Given the description of an element on the screen output the (x, y) to click on. 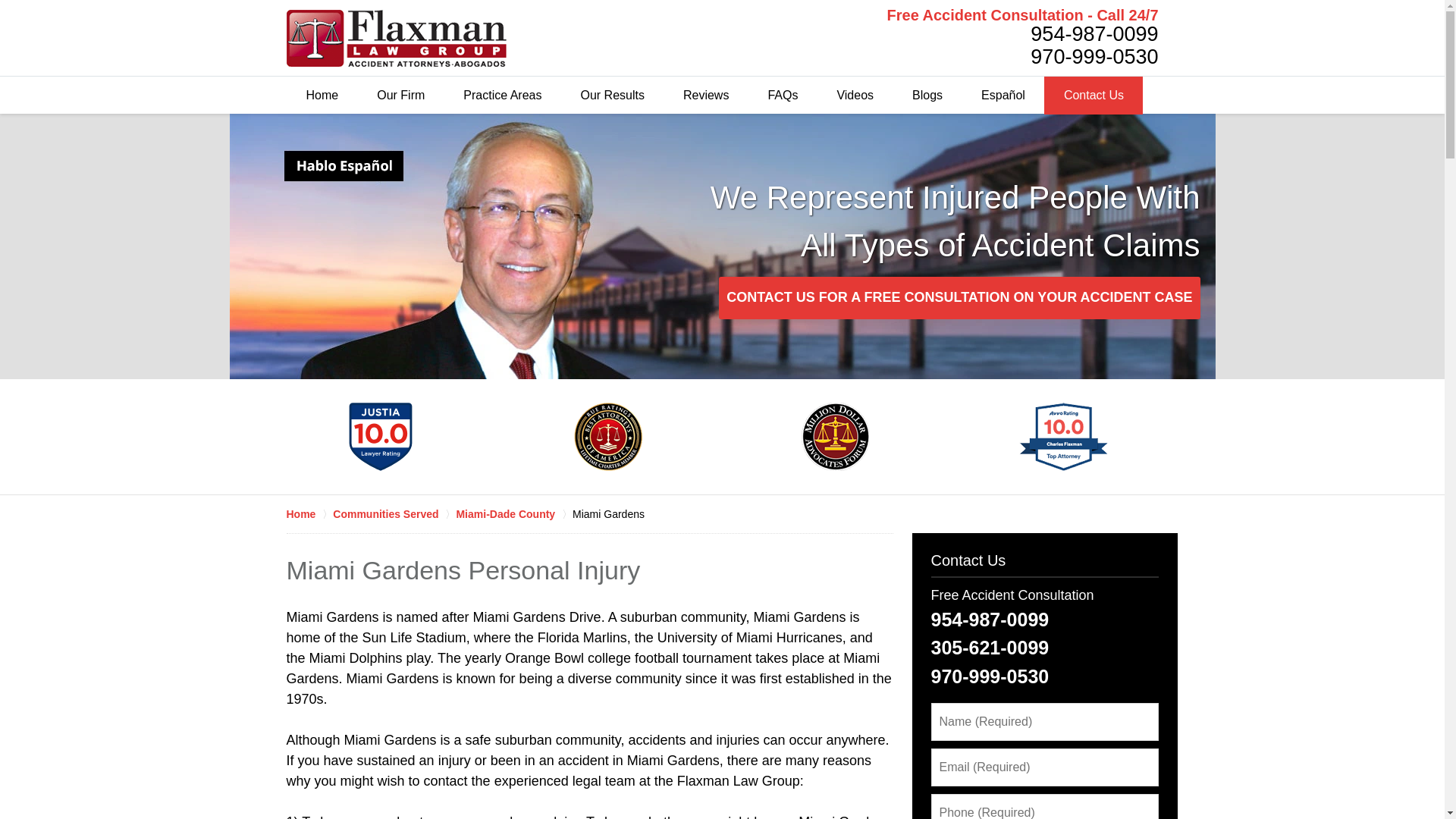
Miami-Dade County Accident Lawyers Flaxman Law Group Home (396, 37)
Home (309, 514)
Blogs (926, 95)
Videos (854, 95)
Our Results (611, 95)
Miami-Dade County (513, 514)
Contact Us (1092, 95)
Communities Served (394, 514)
Practice Areas (502, 95)
CONTACT US FOR A FREE CONSULTATION ON YOUR ACCIDENT CASE (959, 297)
Reviews (705, 95)
Home (322, 95)
FAQs (782, 95)
Our Firm (400, 95)
Back to Home (396, 37)
